Given the description of an element on the screen output the (x, y) to click on. 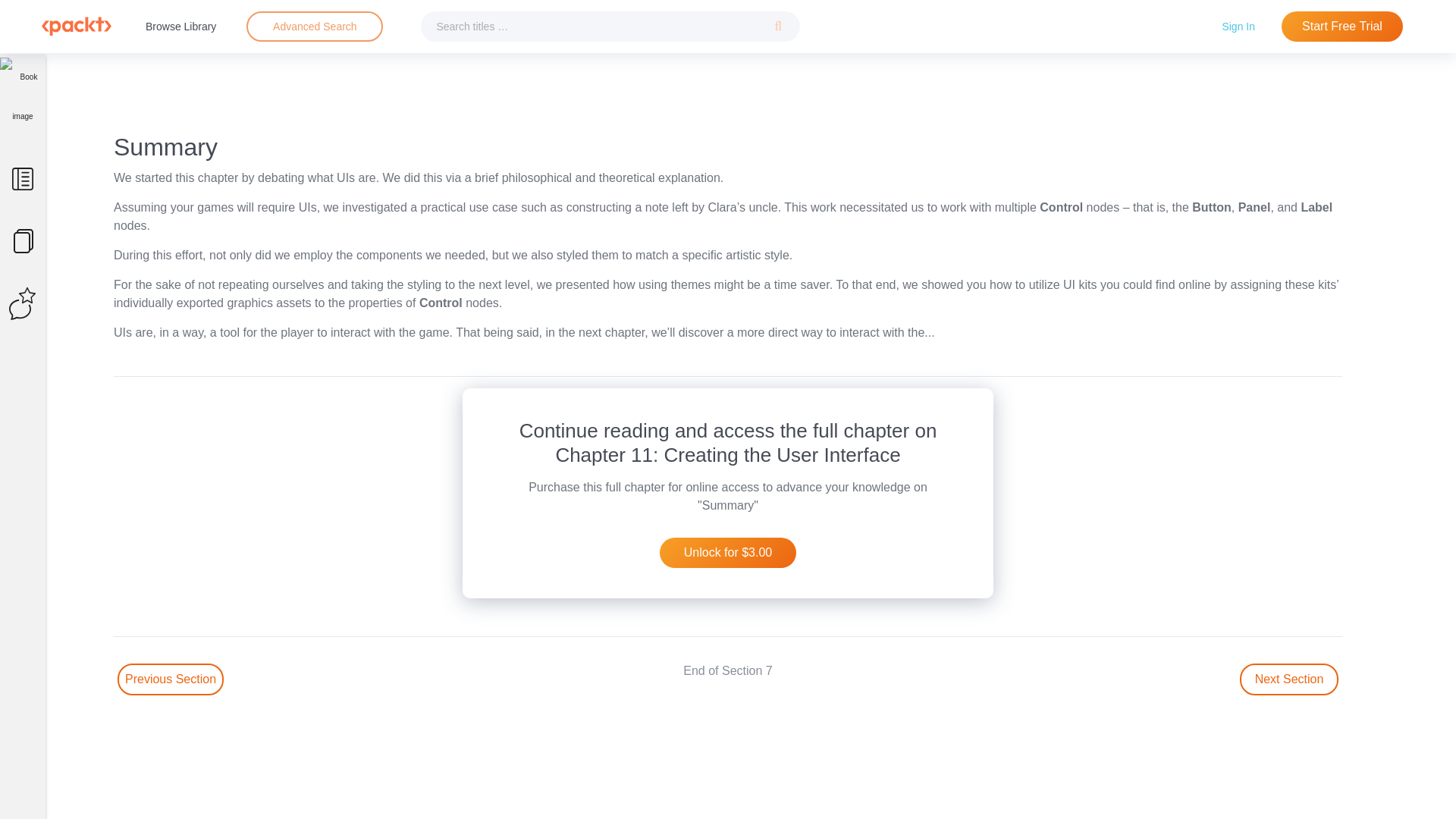
Advanced search (314, 26)
Go to next section (1289, 679)
Go to Previous section (170, 679)
Advanced Search (314, 26)
Advanced Search (315, 26)
Browse Library (180, 26)
Start Free Trial (1342, 26)
Sign In (1238, 26)
